Given the description of an element on the screen output the (x, y) to click on. 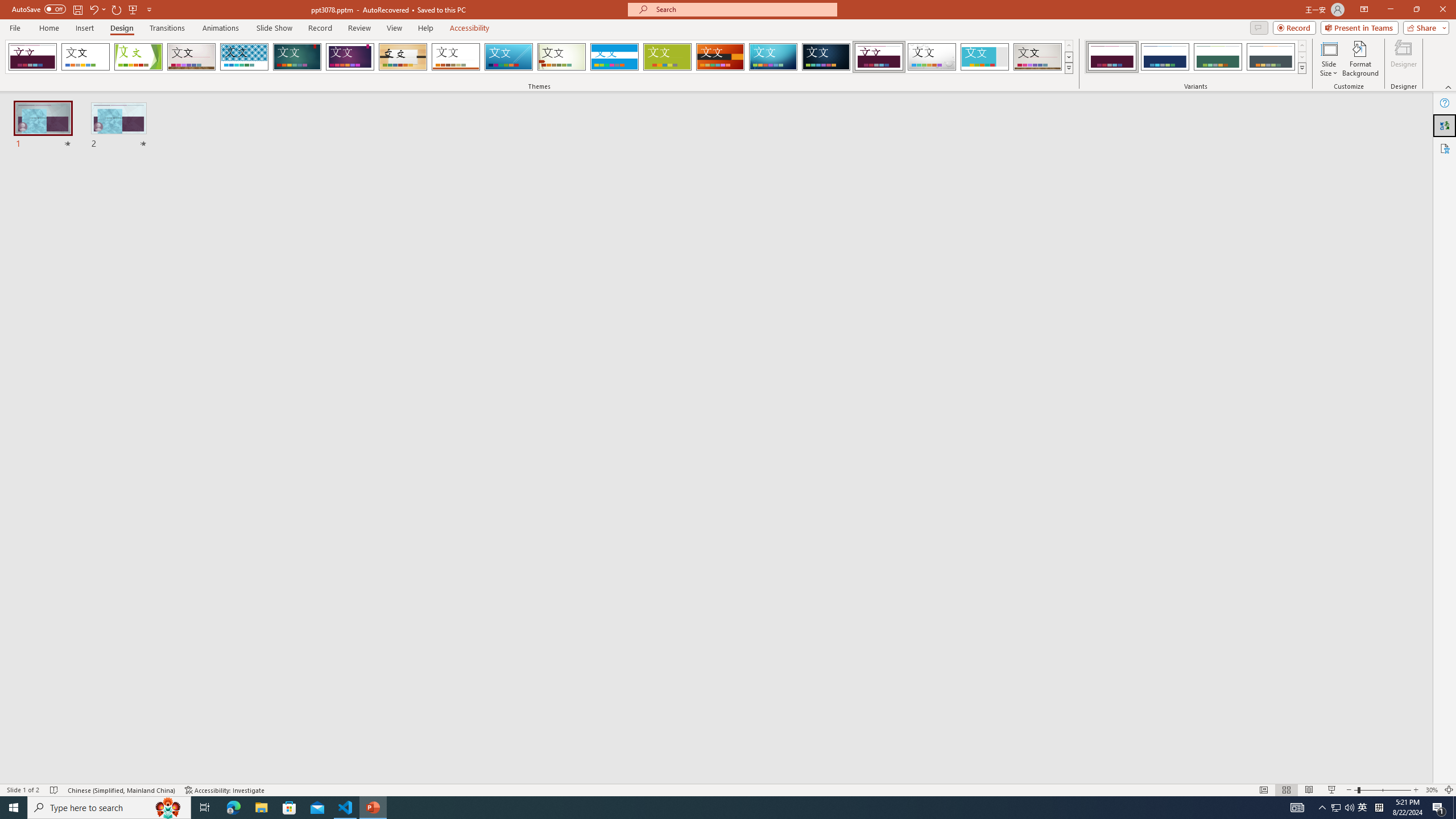
Dividend Variant 4 (1270, 56)
Droplet (931, 56)
Frame (984, 56)
Circuit (772, 56)
Zoom 30% (1431, 790)
